Given the description of an element on the screen output the (x, y) to click on. 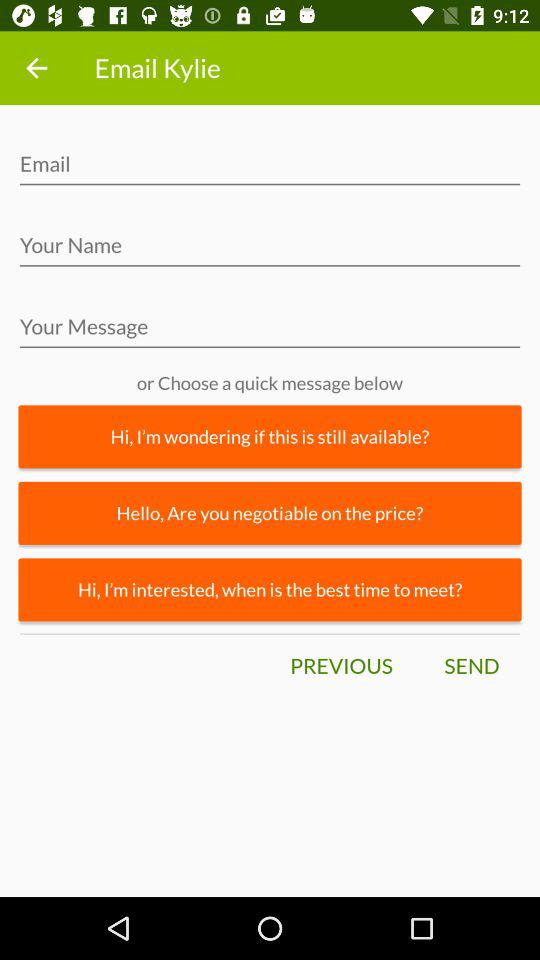
select icon below hi i m (269, 512)
